Given the description of an element on the screen output the (x, y) to click on. 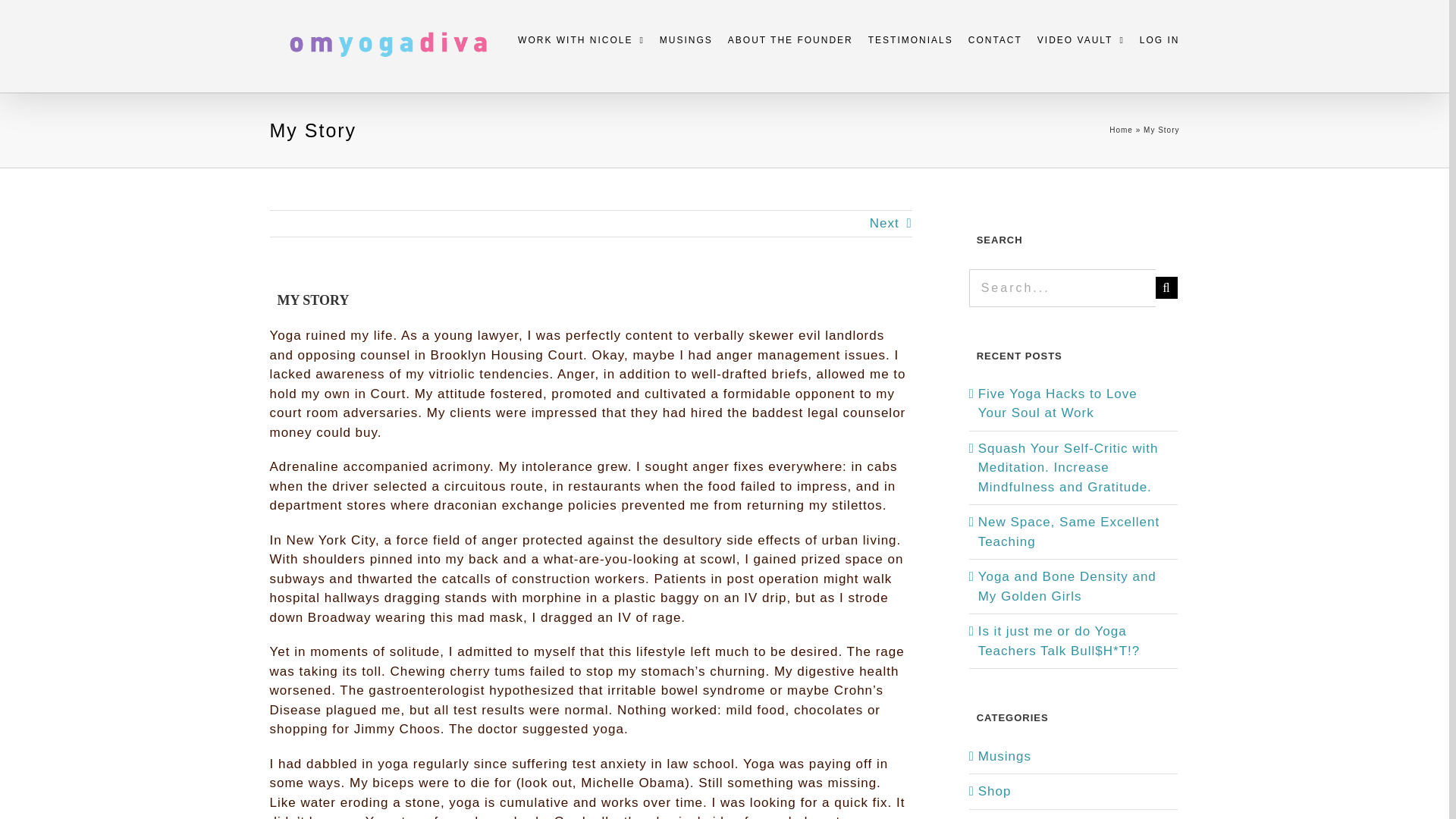
Home (1120, 130)
ABOUT THE FOUNDER (790, 39)
WORK WITH NICOLE (581, 39)
TESTIMONIALS (910, 39)
VIDEO VAULT (1080, 39)
Next (884, 223)
